Given the description of an element on the screen output the (x, y) to click on. 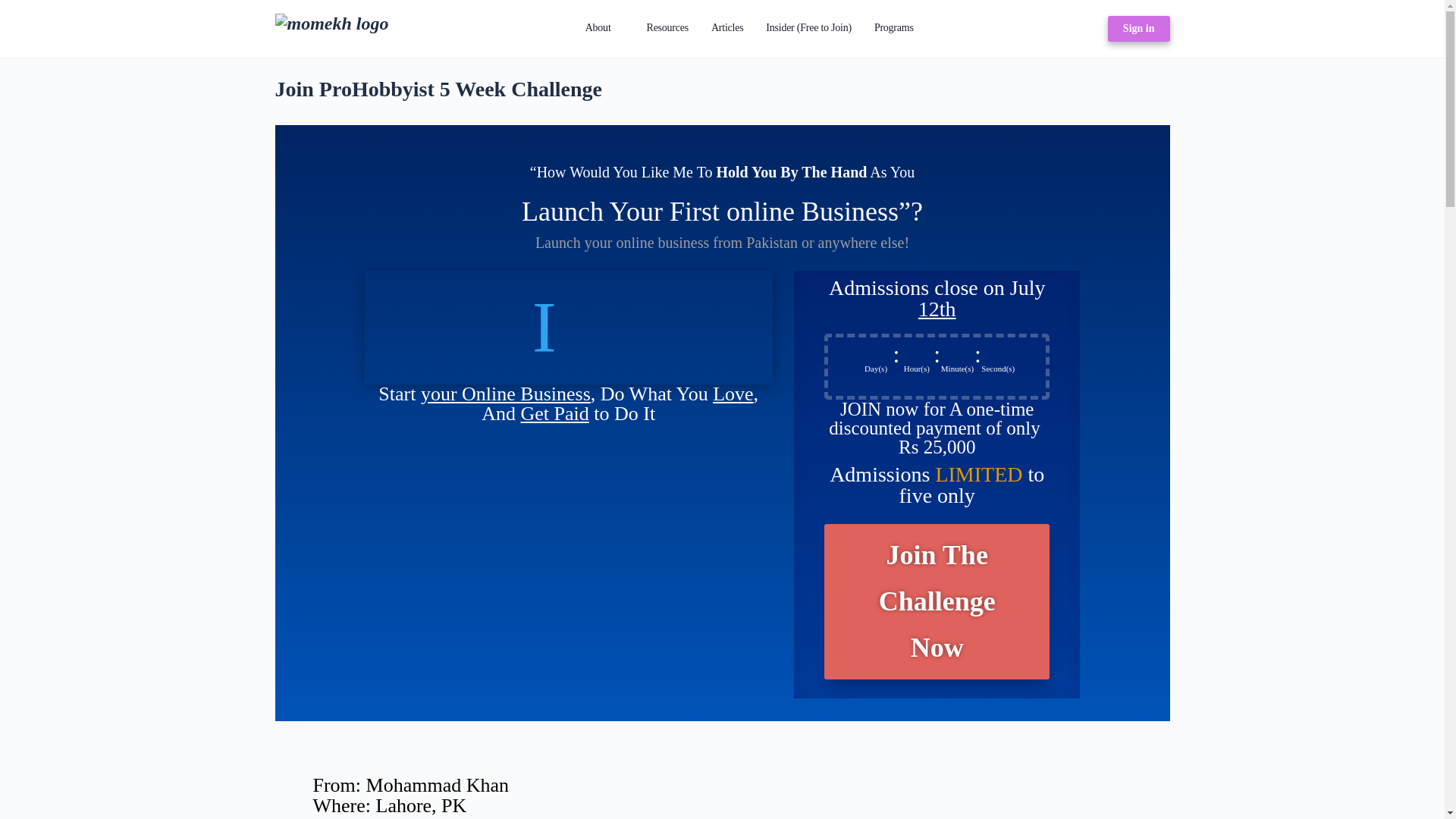
Resources (667, 28)
Join The Challenge Now (936, 601)
Articles (727, 28)
ProHobbyist Academy Invitation (567, 327)
About (604, 28)
Sign in (1139, 28)
Programs (893, 28)
